Given the description of an element on the screen output the (x, y) to click on. 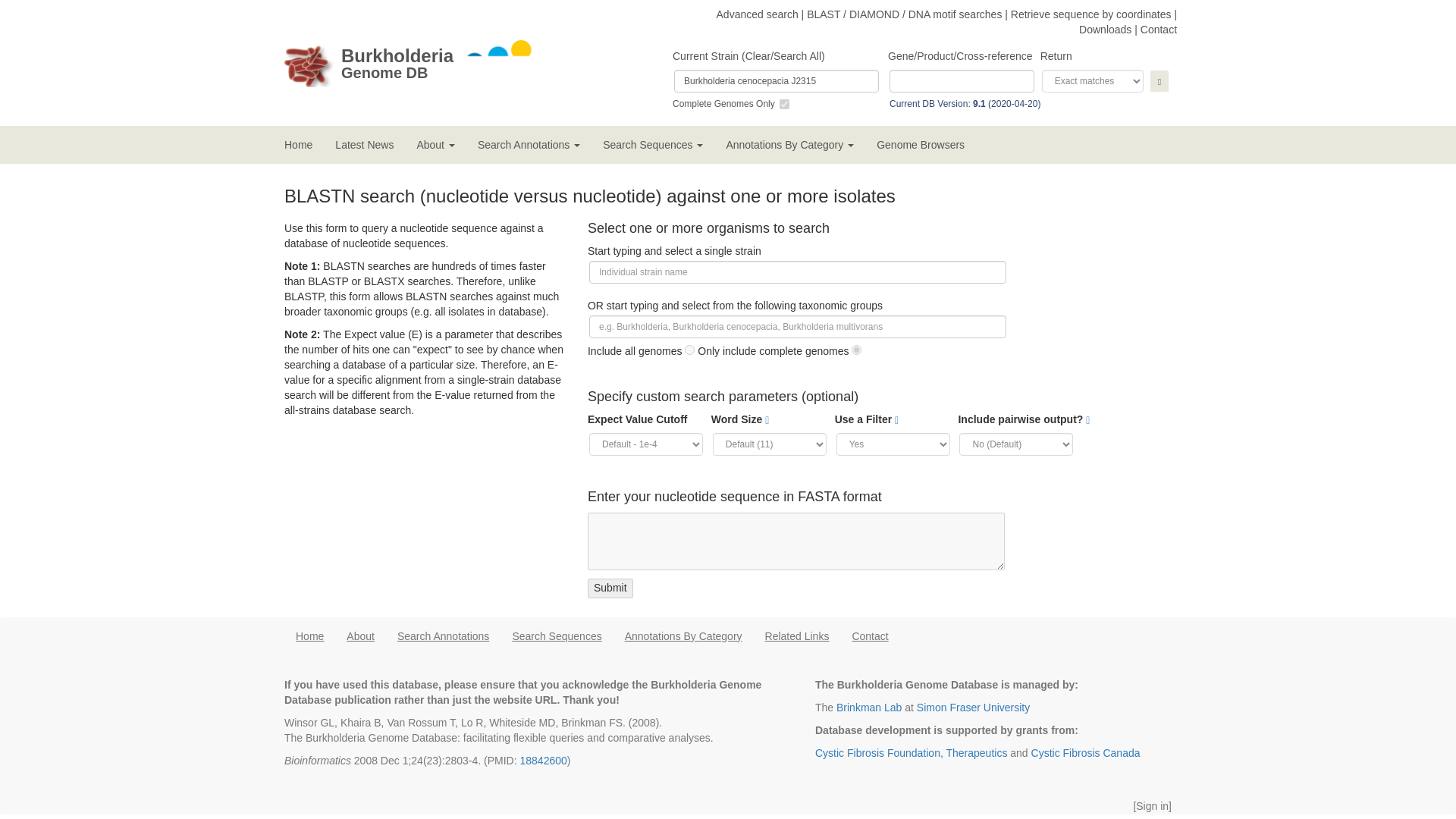
Contact (1158, 29)
complete (783, 103)
Submit (610, 588)
Downloads (1104, 29)
Latest News (363, 144)
About (434, 144)
Annotations By Category (789, 144)
Burkholderia cenocepacia J2315 (776, 80)
complete (396, 63)
